Given the description of an element on the screen output the (x, y) to click on. 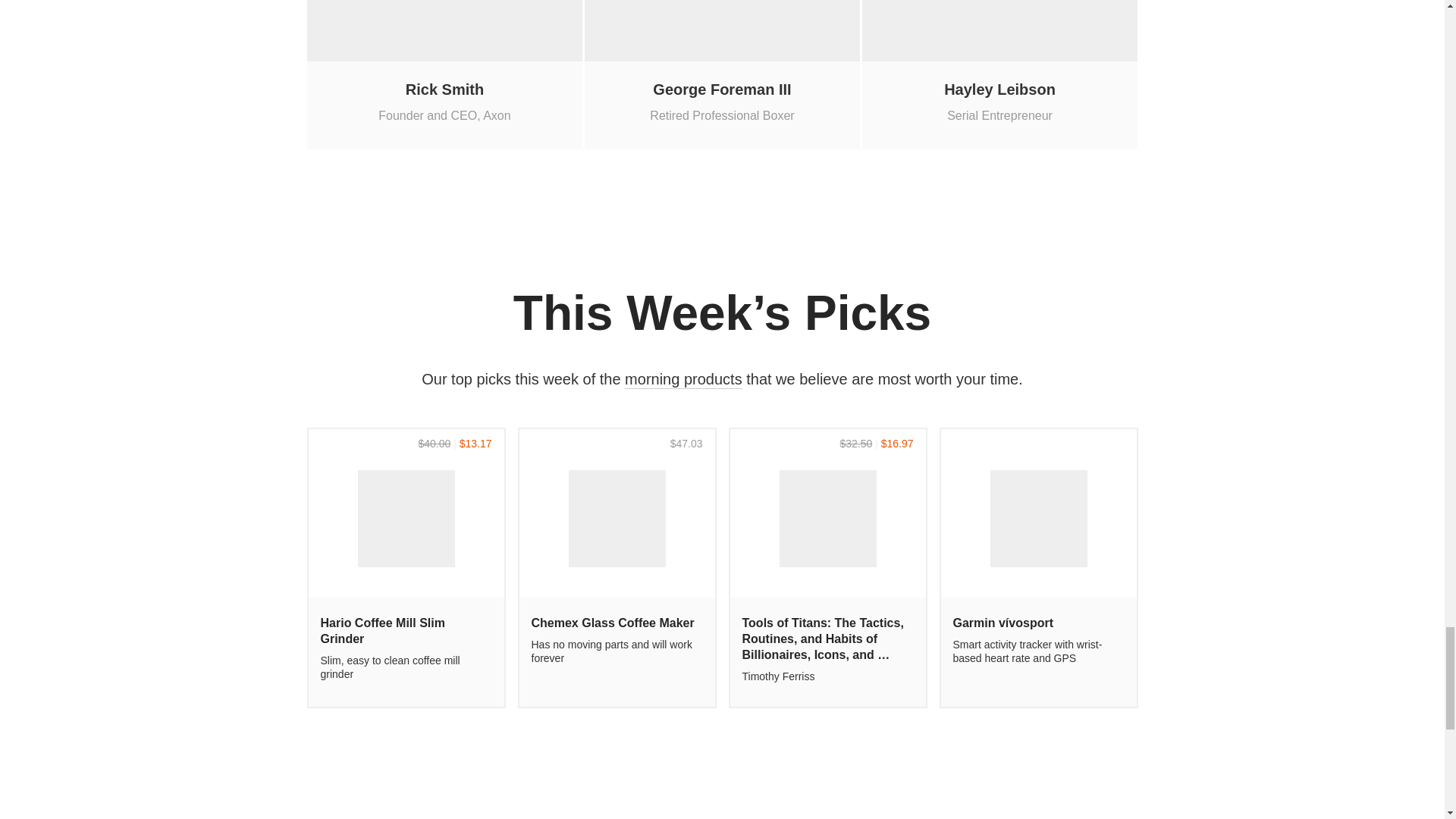
morning products (445, 74)
